Given the description of an element on the screen output the (x, y) to click on. 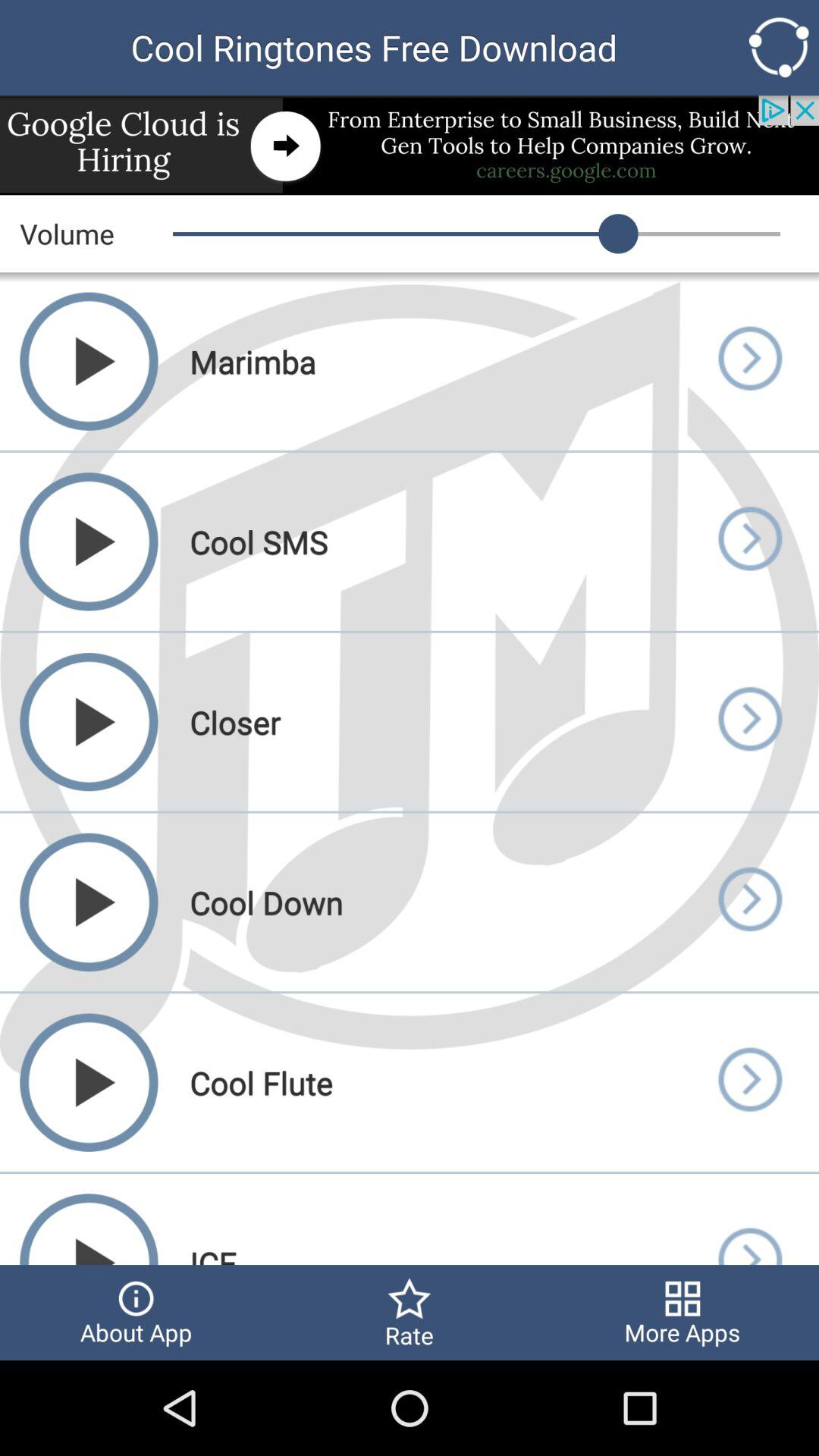
view details option (749, 541)
